Given the description of an element on the screen output the (x, y) to click on. 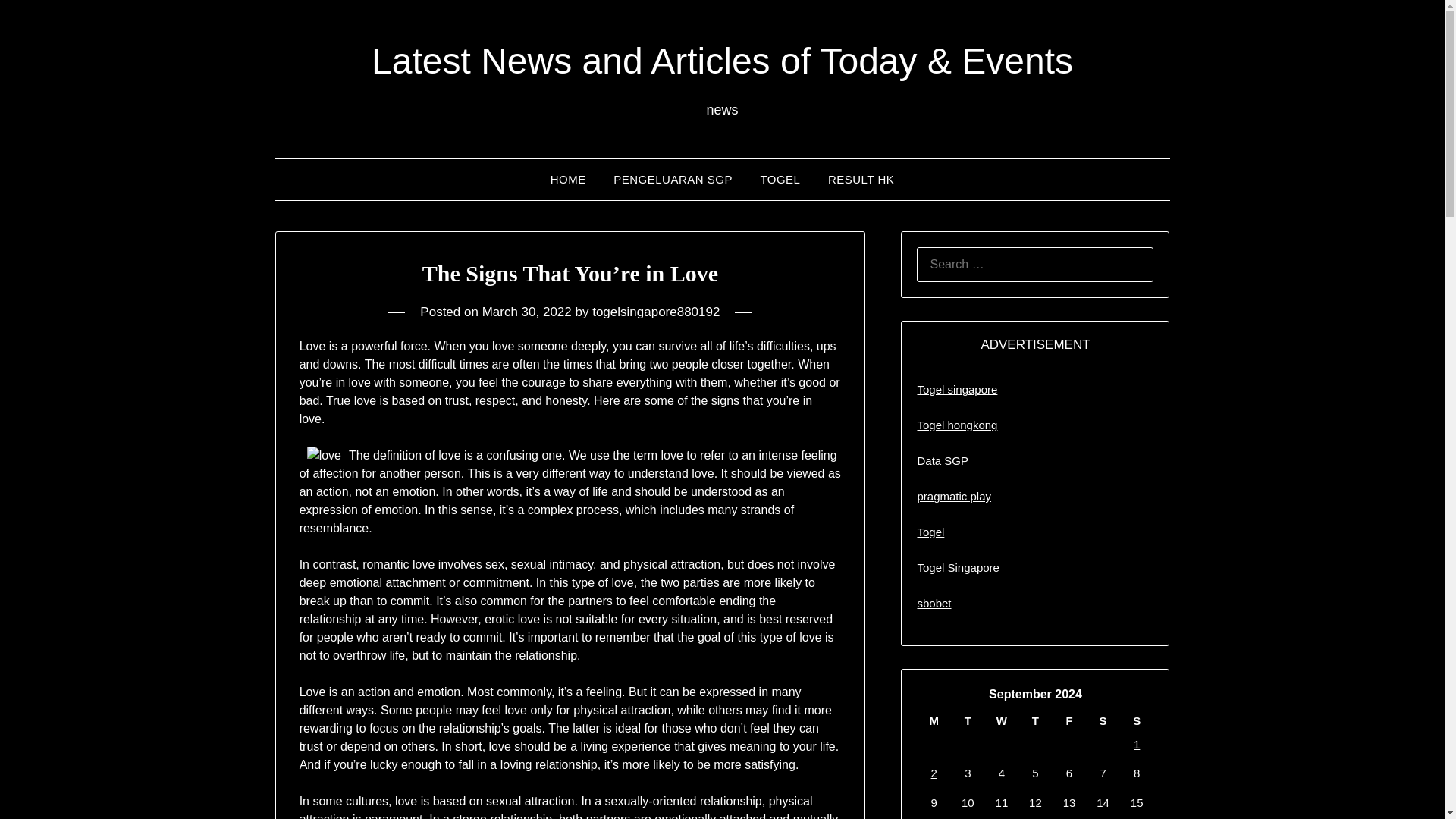
Monday (933, 720)
Togel (930, 531)
pragmatic play (954, 495)
RESULT HK (860, 178)
Saturday (1102, 720)
Search (38, 22)
PENGELUARAN SGP (672, 178)
Data SGP (942, 460)
March 30, 2022 (526, 311)
TOGEL (780, 178)
